Given the description of an element on the screen output the (x, y) to click on. 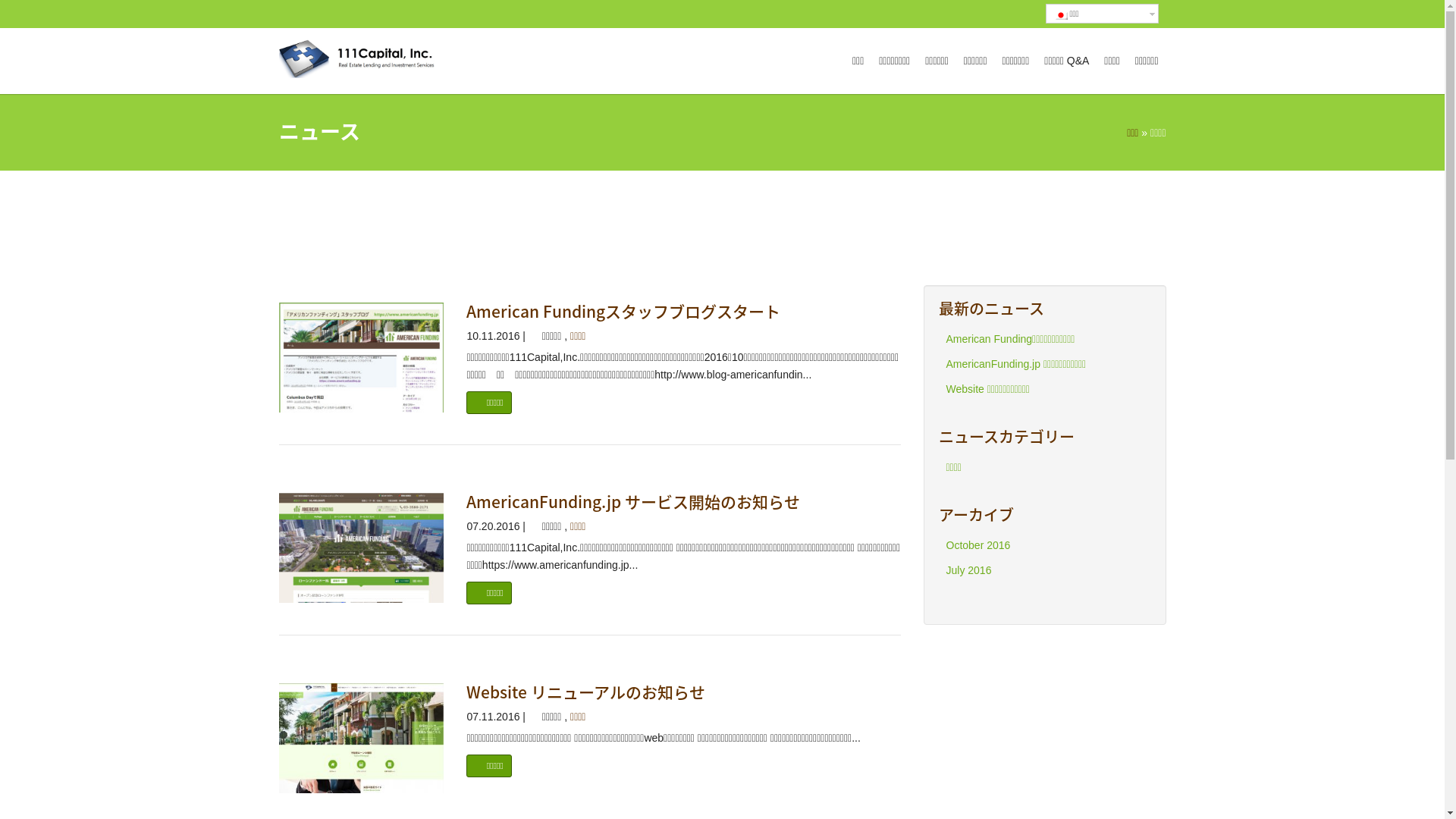
October 2016 Element type: text (978, 545)
July 2016 Element type: text (968, 570)
